Given the description of an element on the screen output the (x, y) to click on. 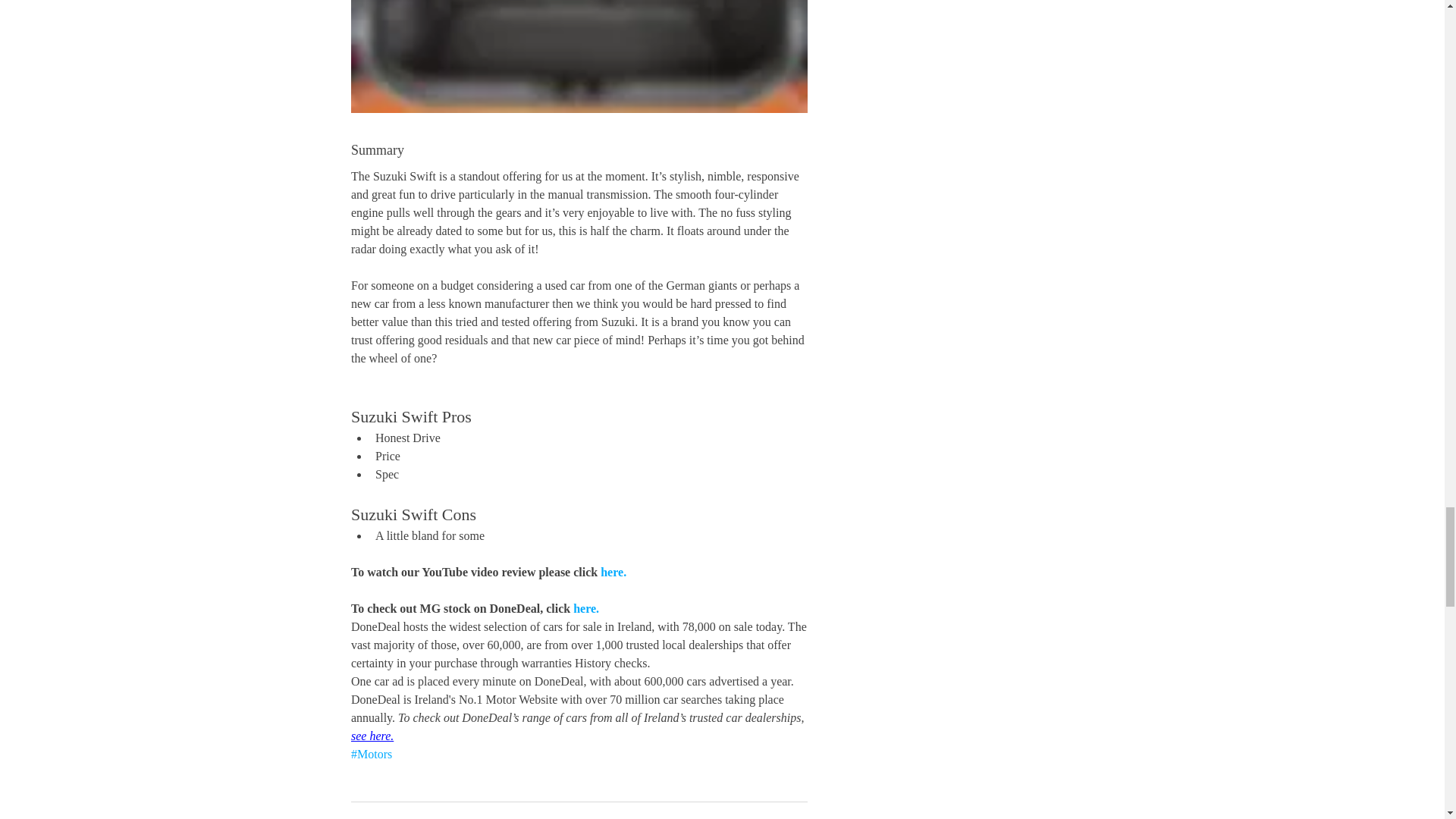
here. (612, 571)
here. (585, 608)
